Given the description of an element on the screen output the (x, y) to click on. 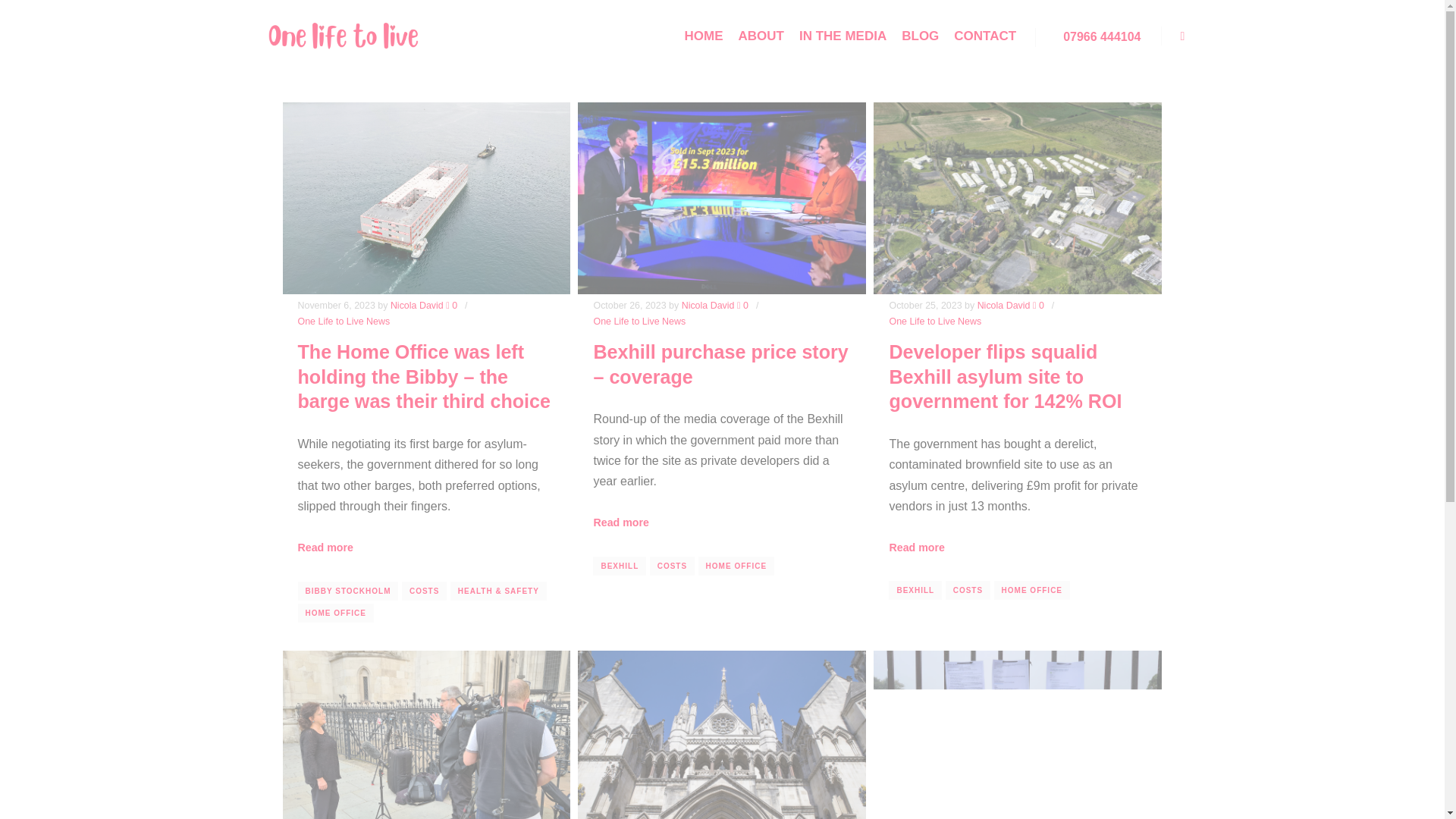
BLOG (919, 35)
One Life To Live (342, 35)
One Life to Live News (934, 321)
Nicola David (417, 305)
Read more (620, 522)
BIBBY STOCKHOLM (347, 589)
HOME OFFICE (334, 612)
HOME OFFICE (736, 565)
0 (1037, 305)
Read more (916, 547)
View all posts by Nicola David (417, 305)
View all posts by Nicola David (708, 305)
BEXHILL (619, 565)
0 (742, 305)
COSTS (423, 589)
